Given the description of an element on the screen output the (x, y) to click on. 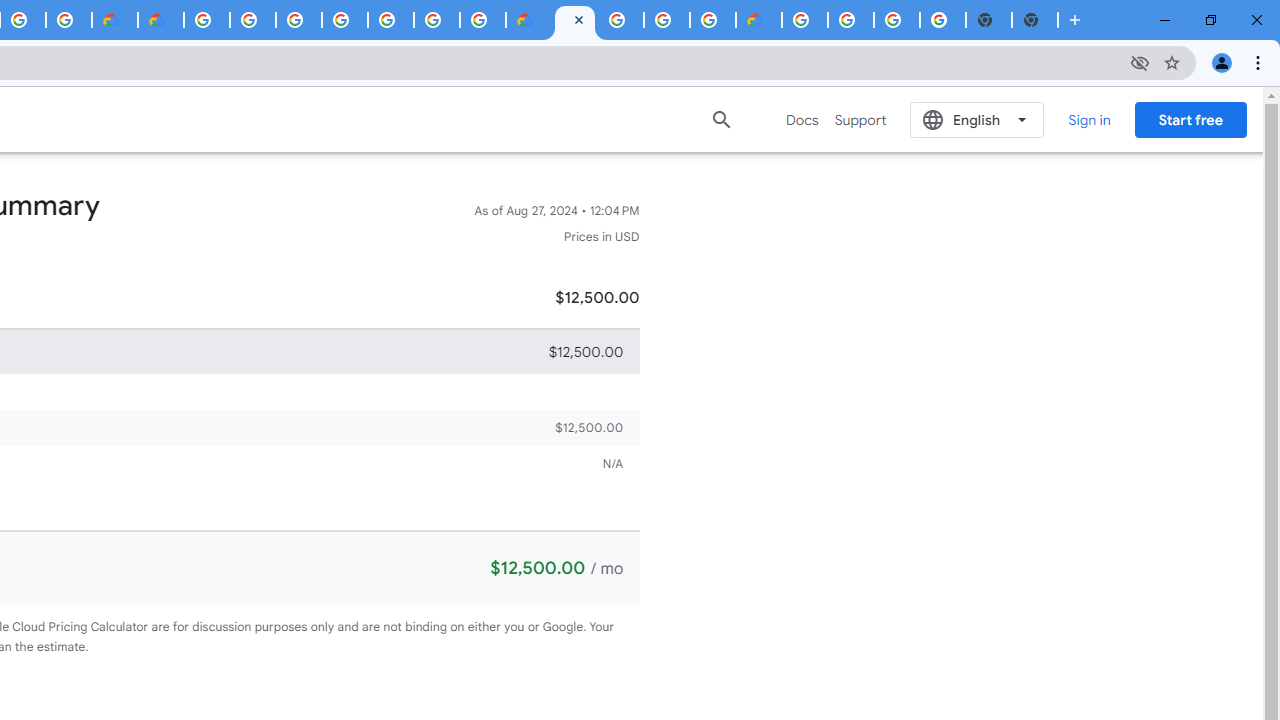
Google Cloud Platform (436, 20)
Customer Care | Google Cloud (115, 20)
Google Cloud Platform (620, 20)
Sign in - Google Accounts (299, 20)
